Given the description of an element on the screen output the (x, y) to click on. 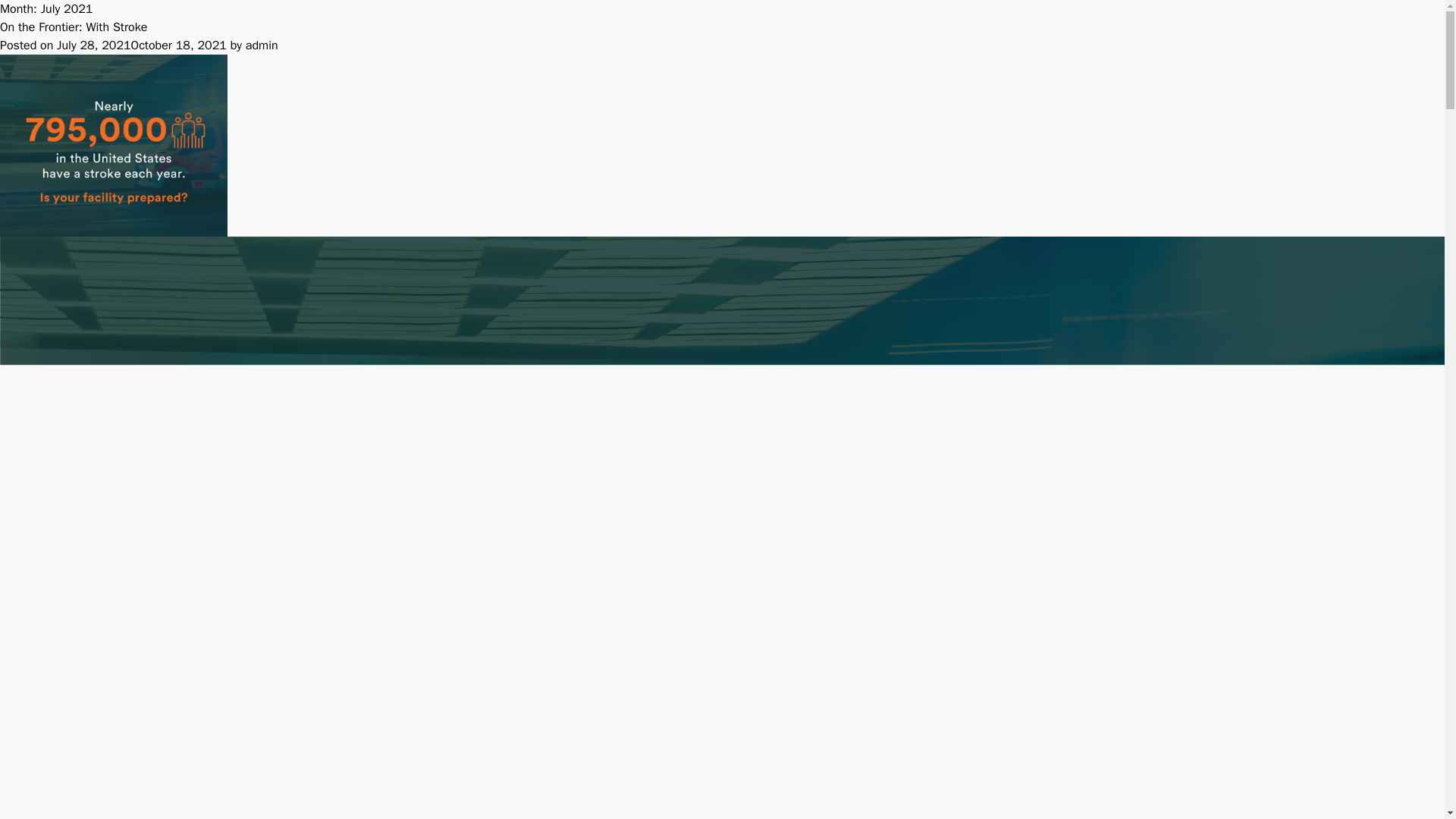
admin (262, 45)
On the Frontier: With Stroke (73, 27)
July 28, 2021October 18, 2021 (141, 45)
